Given the description of an element on the screen output the (x, y) to click on. 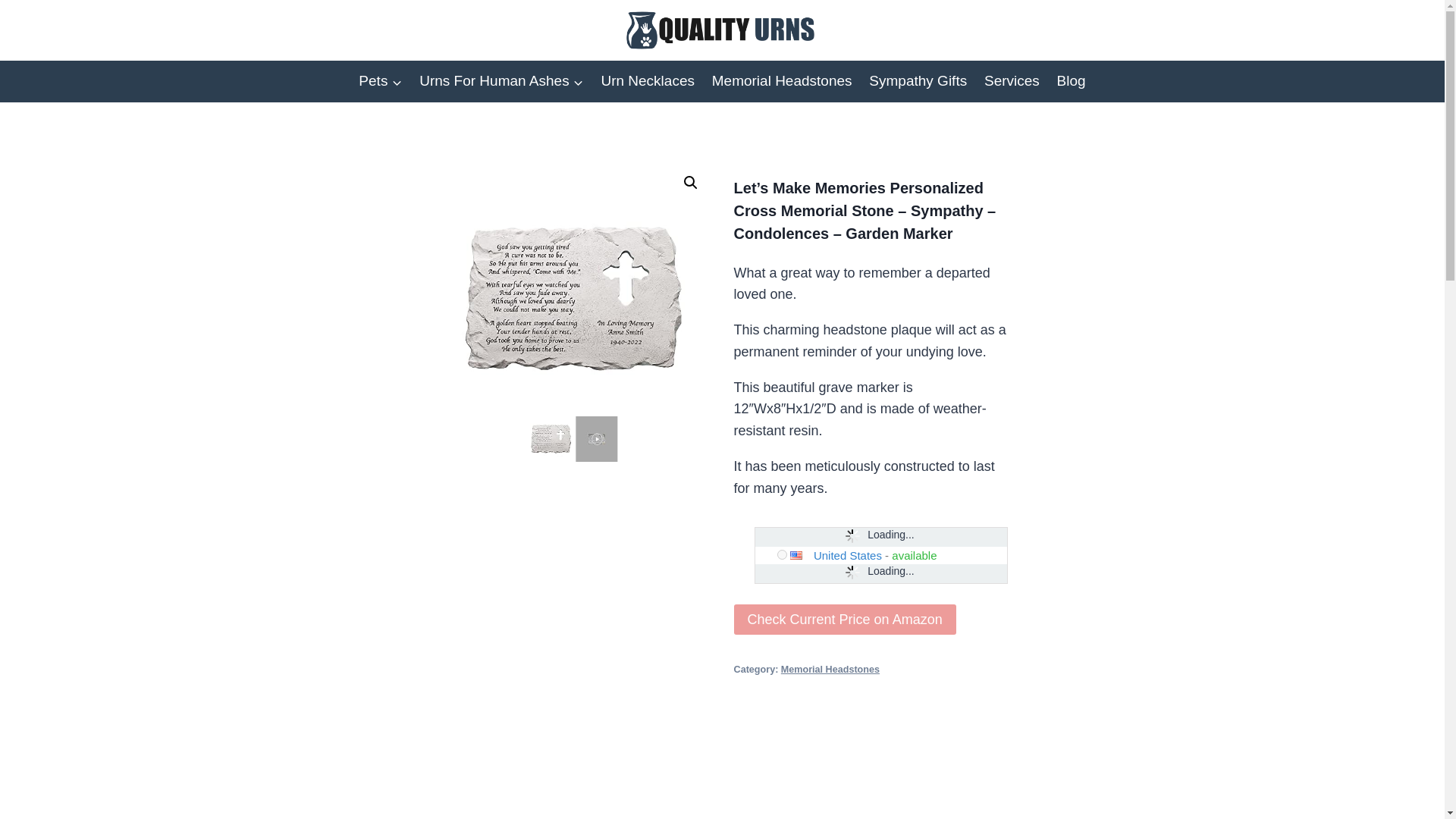
Services (1011, 81)
Urns For Human Ashes (501, 81)
United States (847, 554)
Memorial Headstones (781, 81)
on (782, 554)
Urn Necklaces (647, 81)
Pets (380, 81)
Memorial Headstones (829, 669)
Blog (1071, 81)
